Given the description of an element on the screen output the (x, y) to click on. 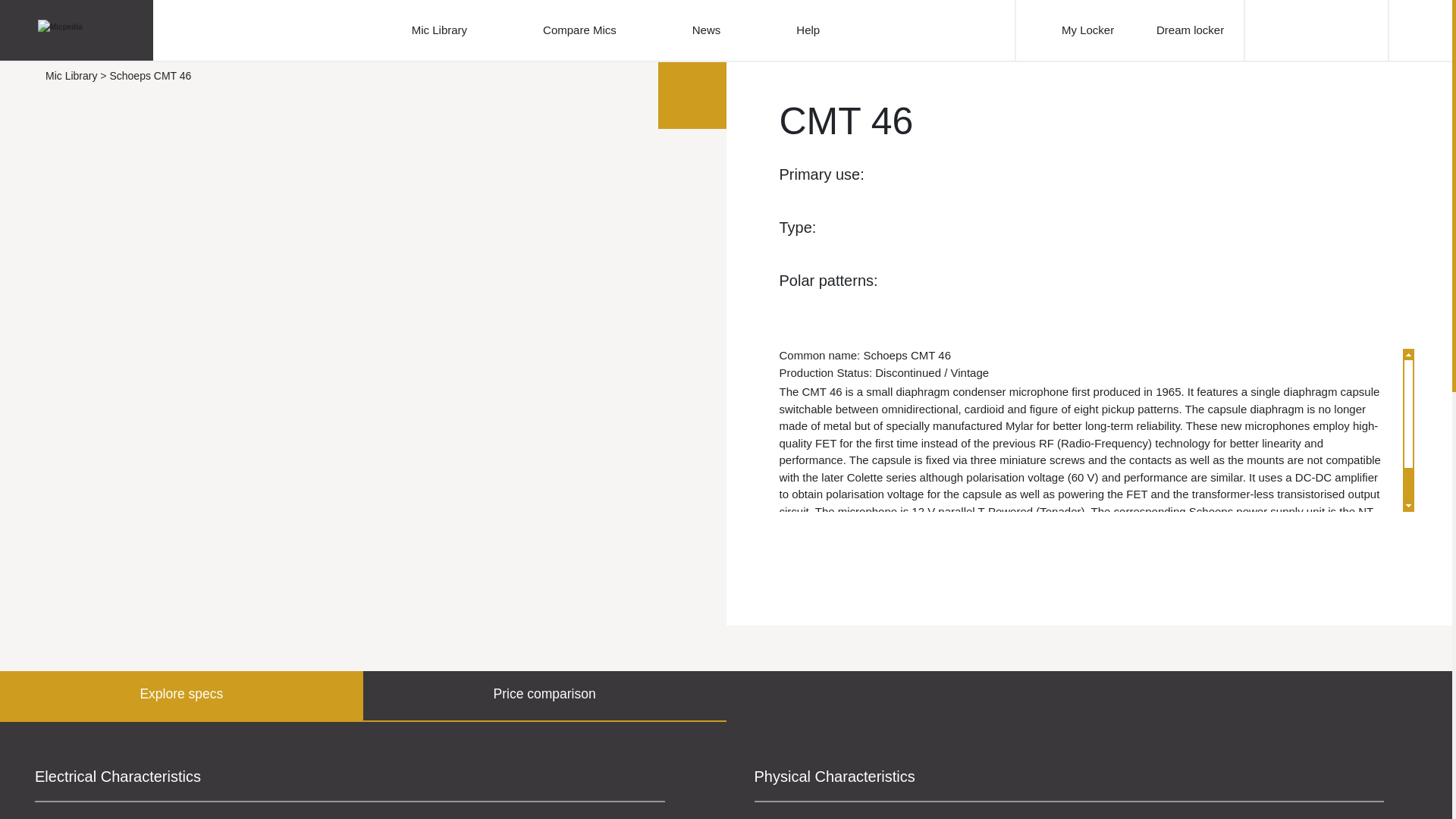
Compare Mics (579, 29)
Mic Library (439, 29)
Help (807, 29)
News (706, 29)
My Locker (1086, 30)
Dream locker (1181, 30)
